Given the description of an element on the screen output the (x, y) to click on. 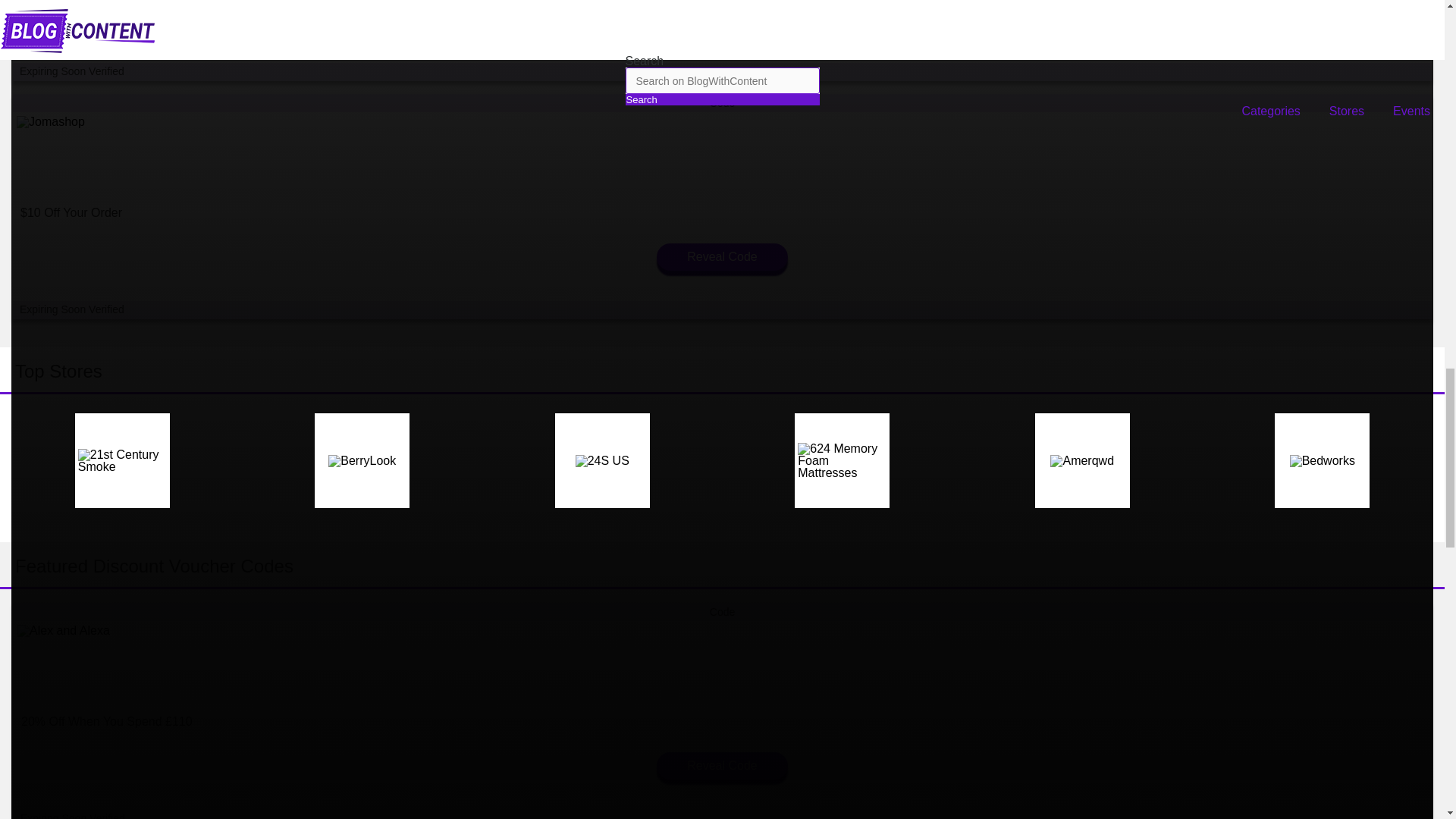
BerryLook (362, 460)
Amerqwd (1081, 460)
21st Century Smoke (122, 460)
624 Memory Foam Mattresses (841, 461)
Jomashop (50, 121)
Reveal Code (721, 18)
Reveal Code (721, 765)
Alex and Alexa (63, 630)
Reveal Code (721, 257)
Bedworks (1322, 460)
24S US (601, 460)
